Given the description of an element on the screen output the (x, y) to click on. 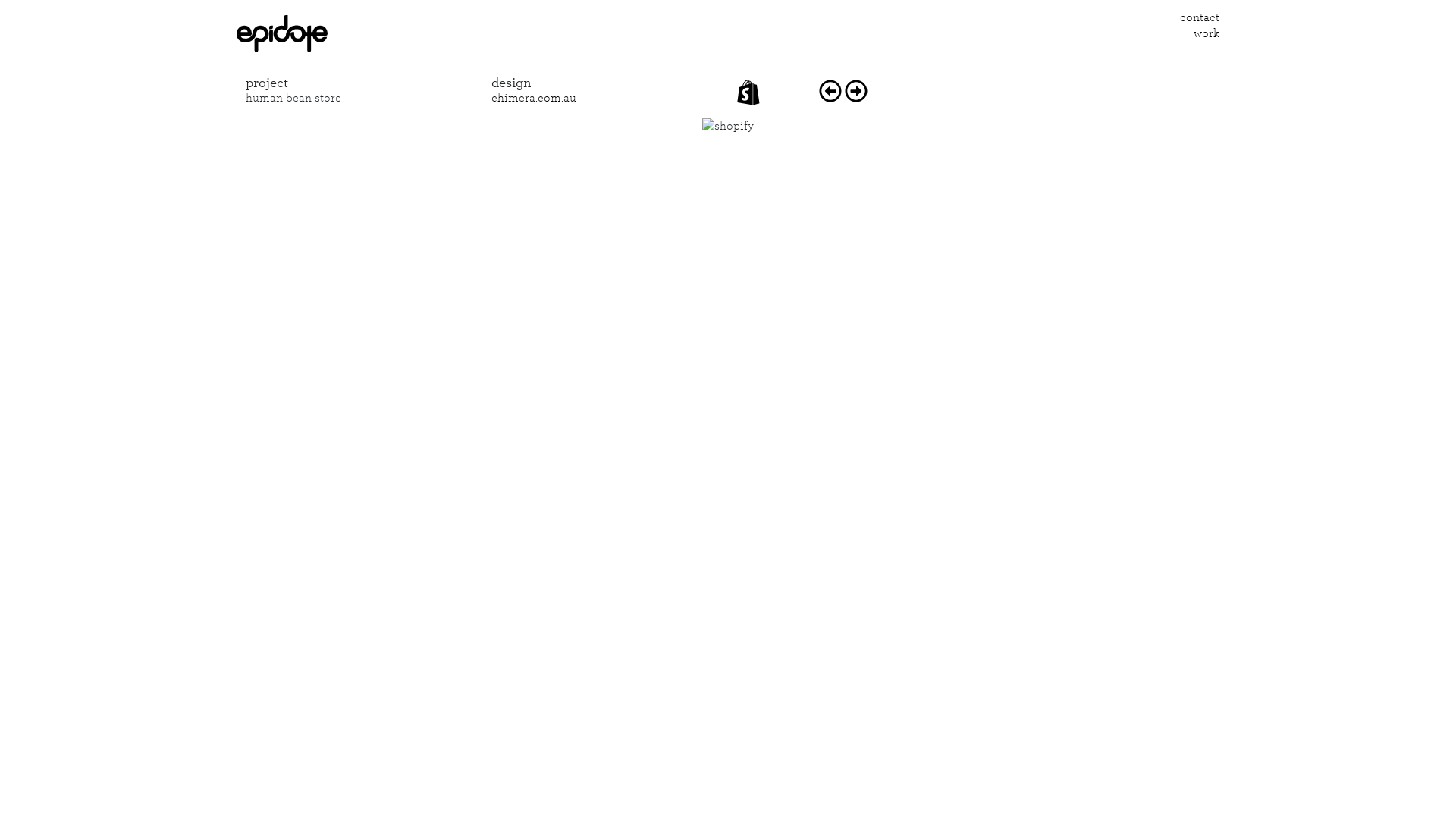
bard Element type: hover (855, 87)
work Element type: text (1206, 33)
contact Element type: text (1199, 17)
chimera.com.au Element type: text (533, 97)
rempro Element type: hover (830, 87)
shopify Element type: hover (748, 92)
